Given the description of an element on the screen output the (x, y) to click on. 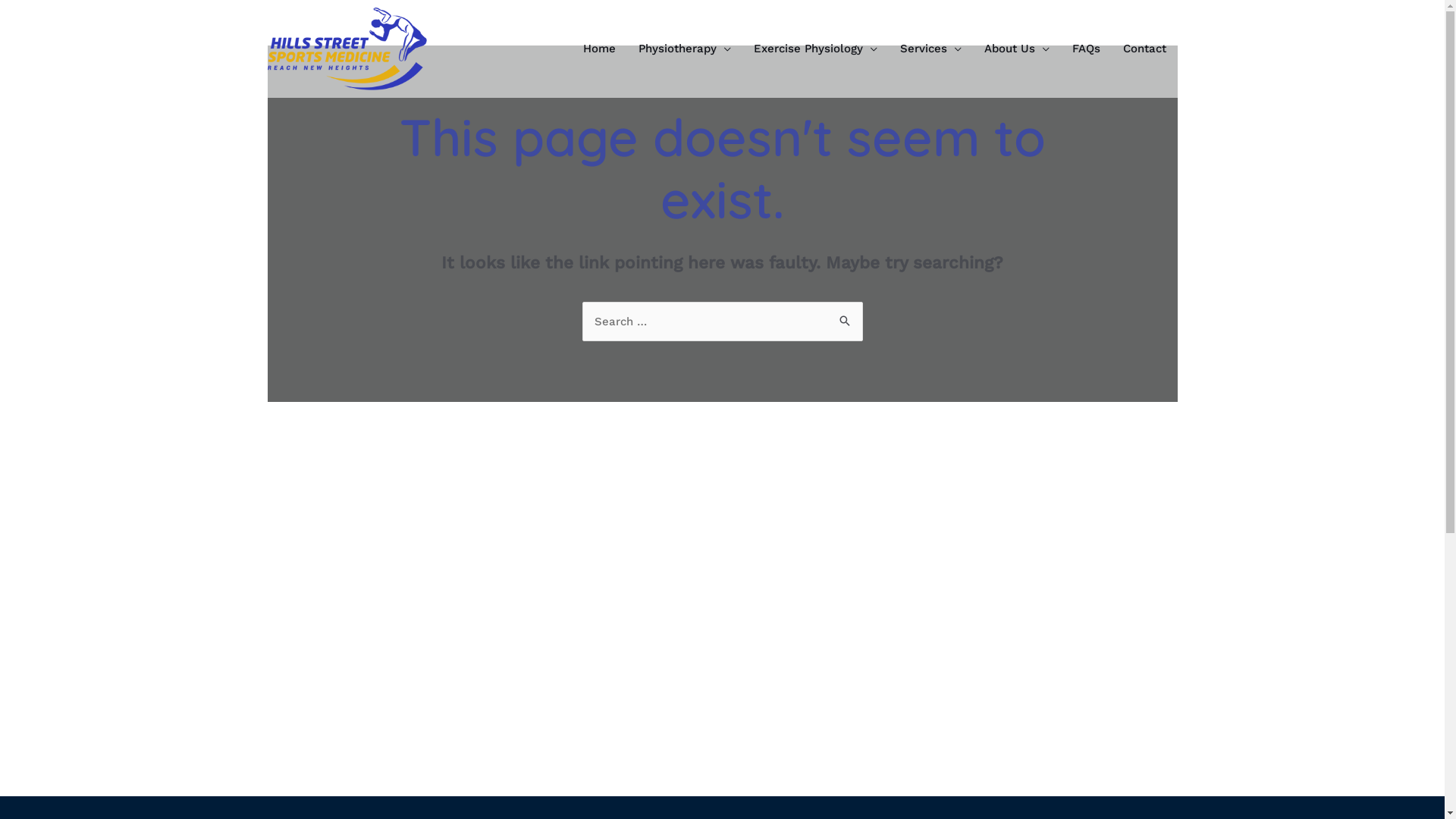
Home Element type: text (599, 48)
Physiotherapy Element type: text (683, 48)
Contact Element type: text (1144, 48)
FAQs Element type: text (1085, 48)
Services Element type: text (930, 48)
About Us Element type: text (1016, 48)
Exercise Physiology Element type: text (814, 48)
Search Element type: text (845, 316)
